Given the description of an element on the screen output the (x, y) to click on. 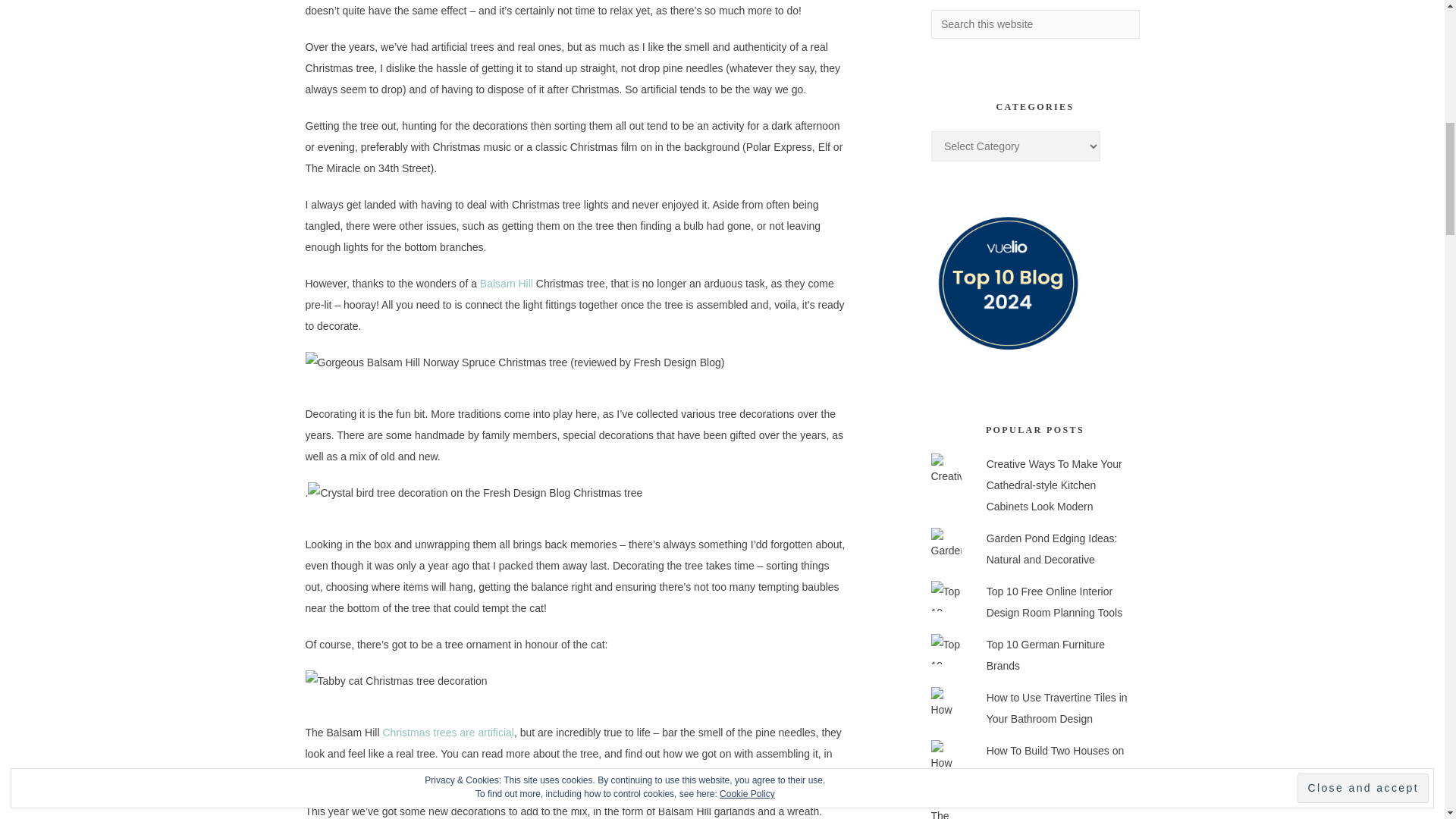
Balsam Hill (507, 283)
Top 10 Free Online Interior Design Room Planning Tools (1054, 602)
previous post (355, 775)
Garden Pond Edging Ideas: Natural and Decorative (1052, 548)
Top 10 German Furniture Brands (1046, 654)
Christmas trees are artificial (447, 732)
